Given the description of an element on the screen output the (x, y) to click on. 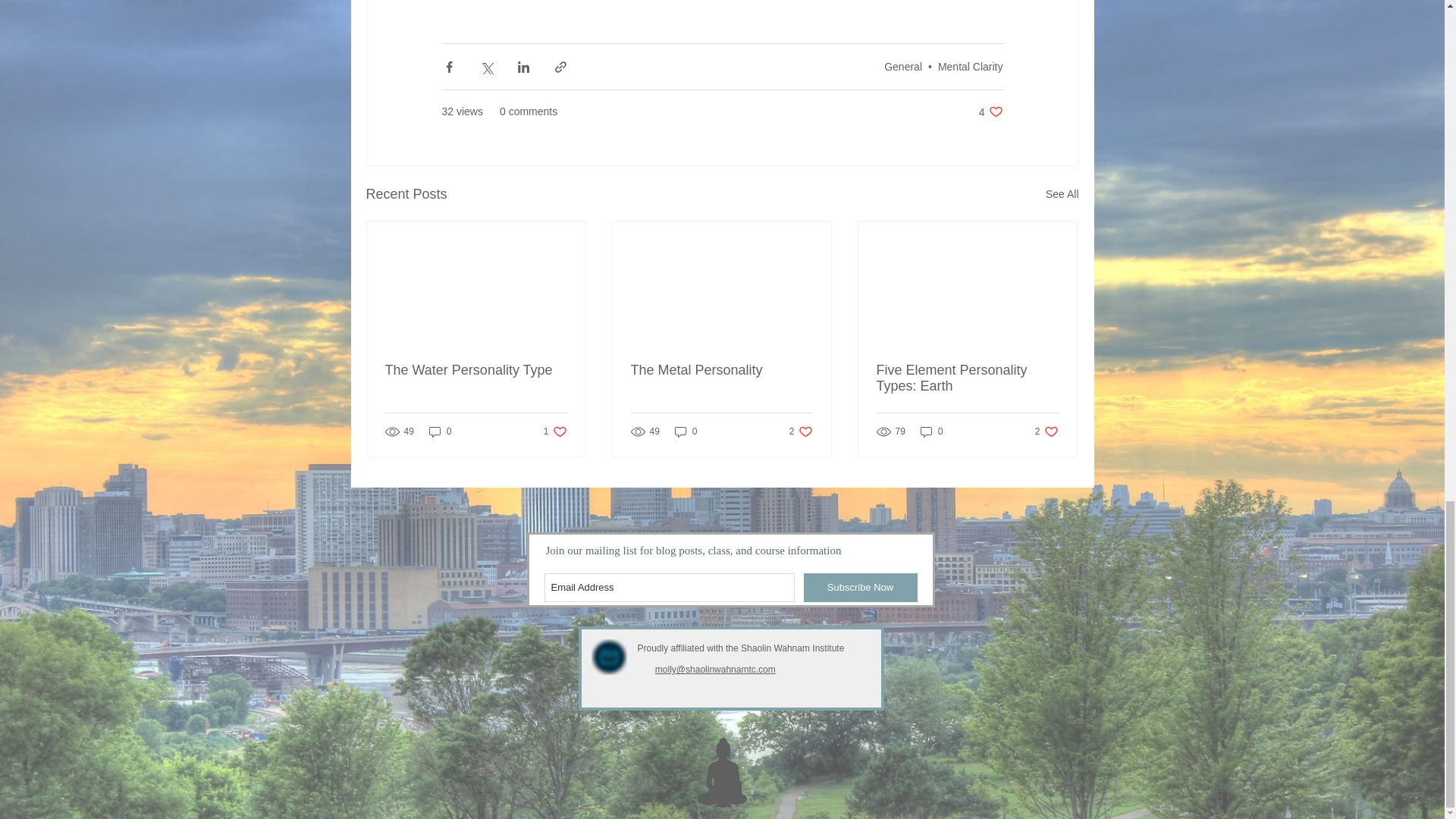
Mental Clarity (970, 66)
General (902, 66)
